Given the description of an element on the screen output the (x, y) to click on. 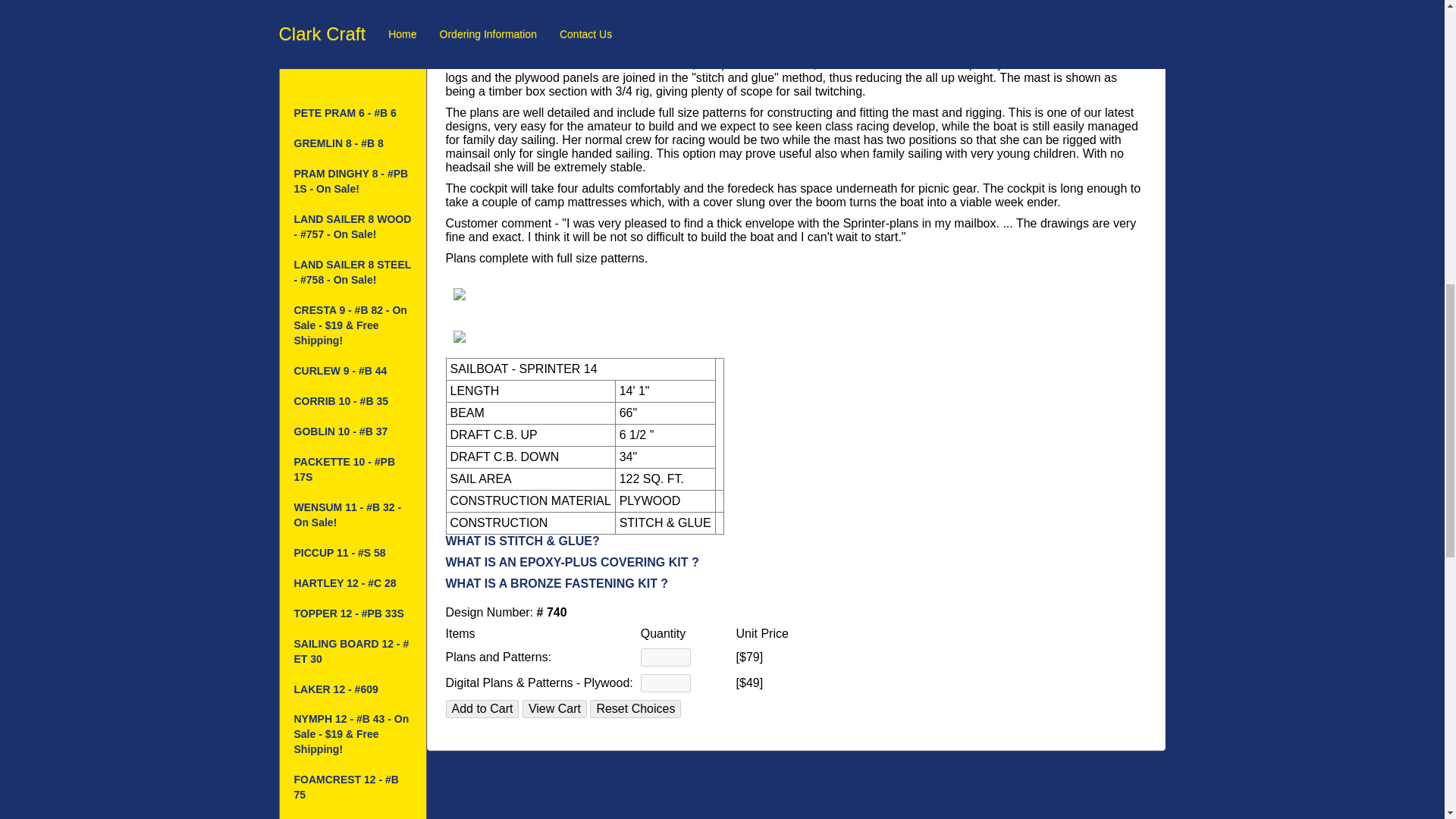
View Cart (554, 709)
Reset Choices (635, 709)
Add to Cart (482, 709)
